Given the description of an element on the screen output the (x, y) to click on. 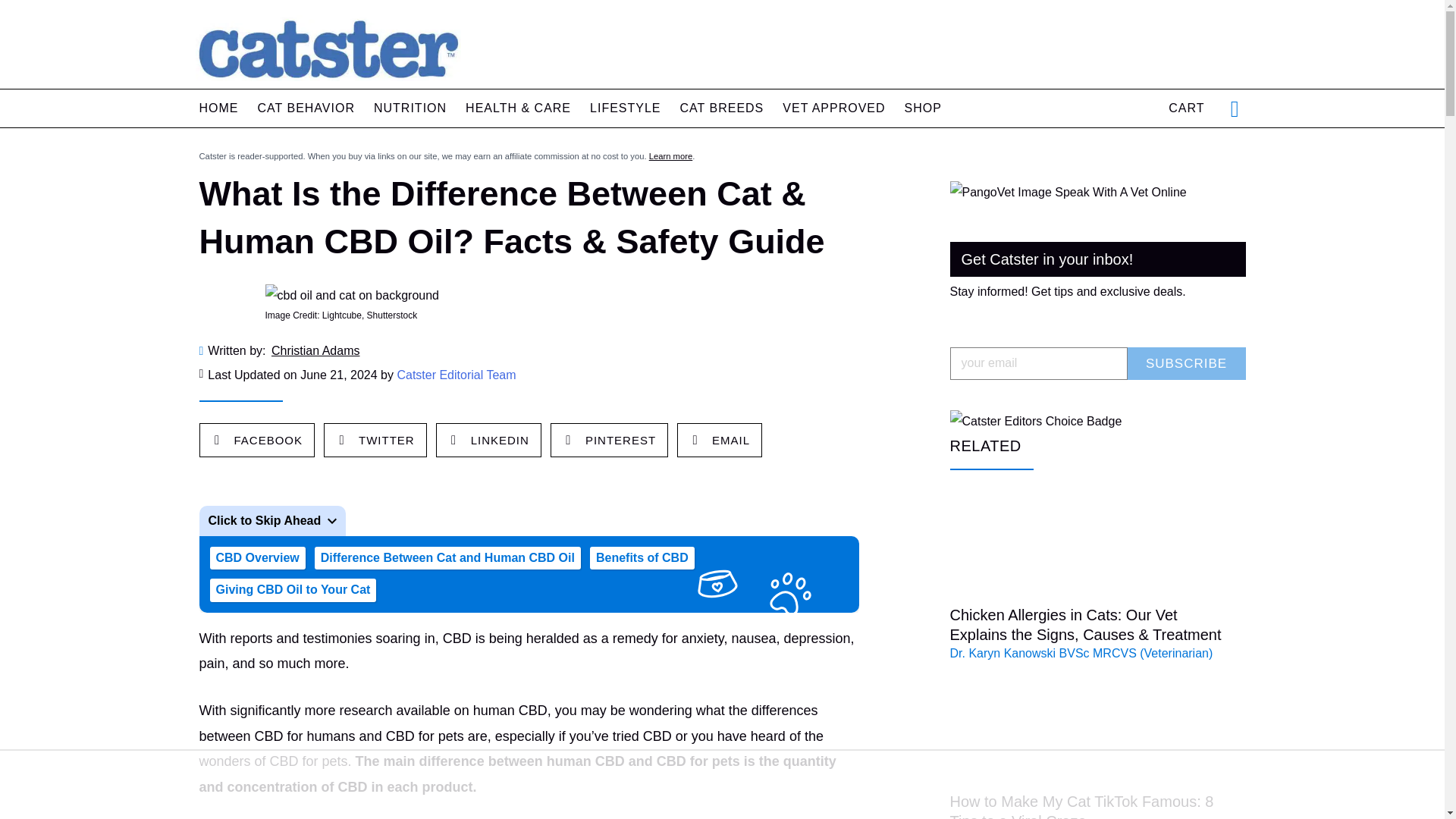
Written by: Christian Adams (528, 350)
Catster Editorial Team (455, 374)
CAT BEHAVIOR (306, 108)
NUTRITION (410, 108)
SHOP (923, 108)
CART (1186, 108)
HOME (218, 108)
Learn more (671, 155)
VET APPROVED (834, 108)
TWITTER (375, 440)
LIFESTYLE (625, 108)
CAT BREEDS (721, 108)
FACEBOOK (257, 440)
